Given the description of an element on the screen output the (x, y) to click on. 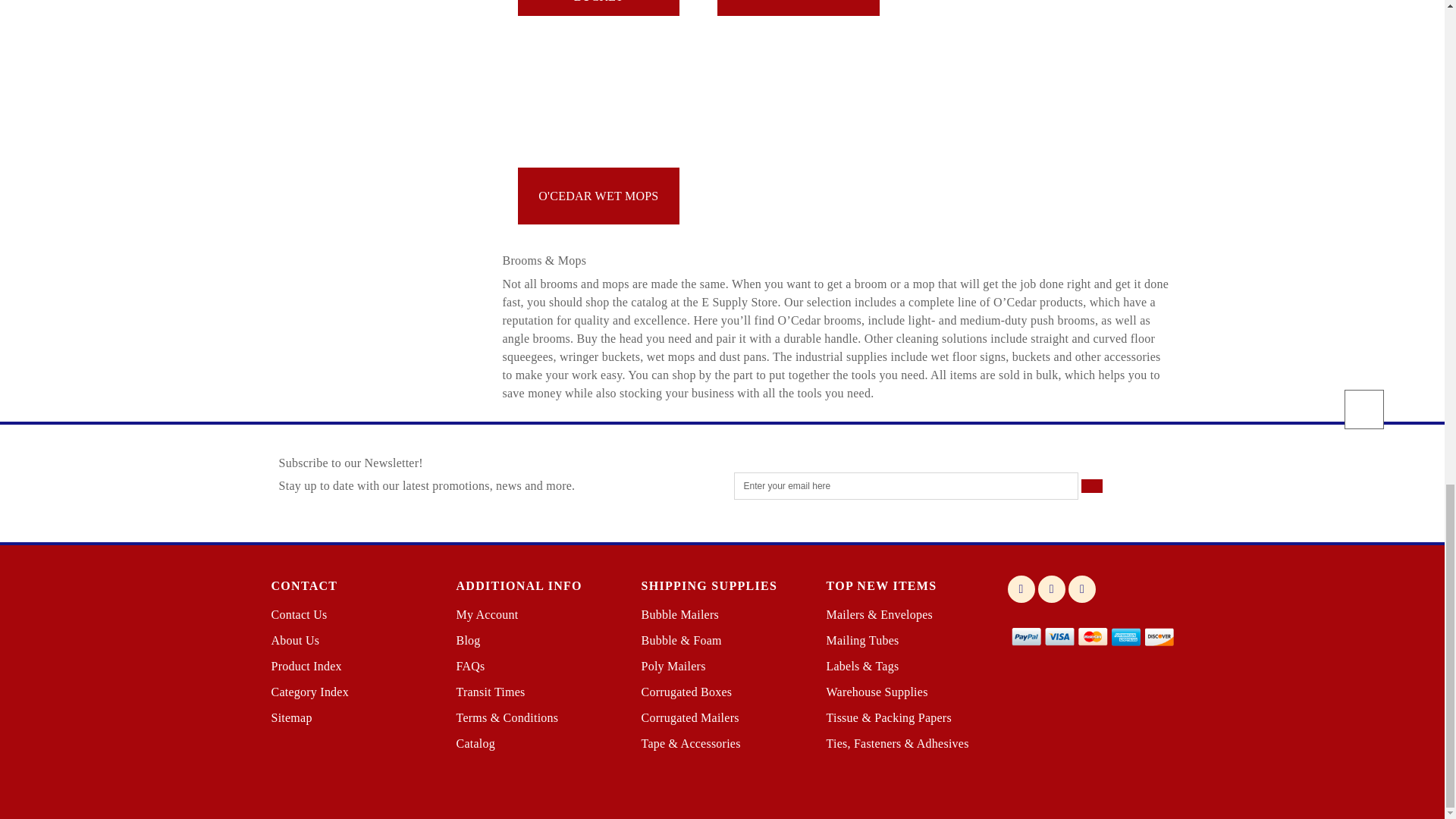
payments (1092, 634)
Like Us on Facebook (1020, 588)
Subscribe to our Channel (1082, 588)
Follow Us on Twitter (1051, 588)
